Given the description of an element on the screen output the (x, y) to click on. 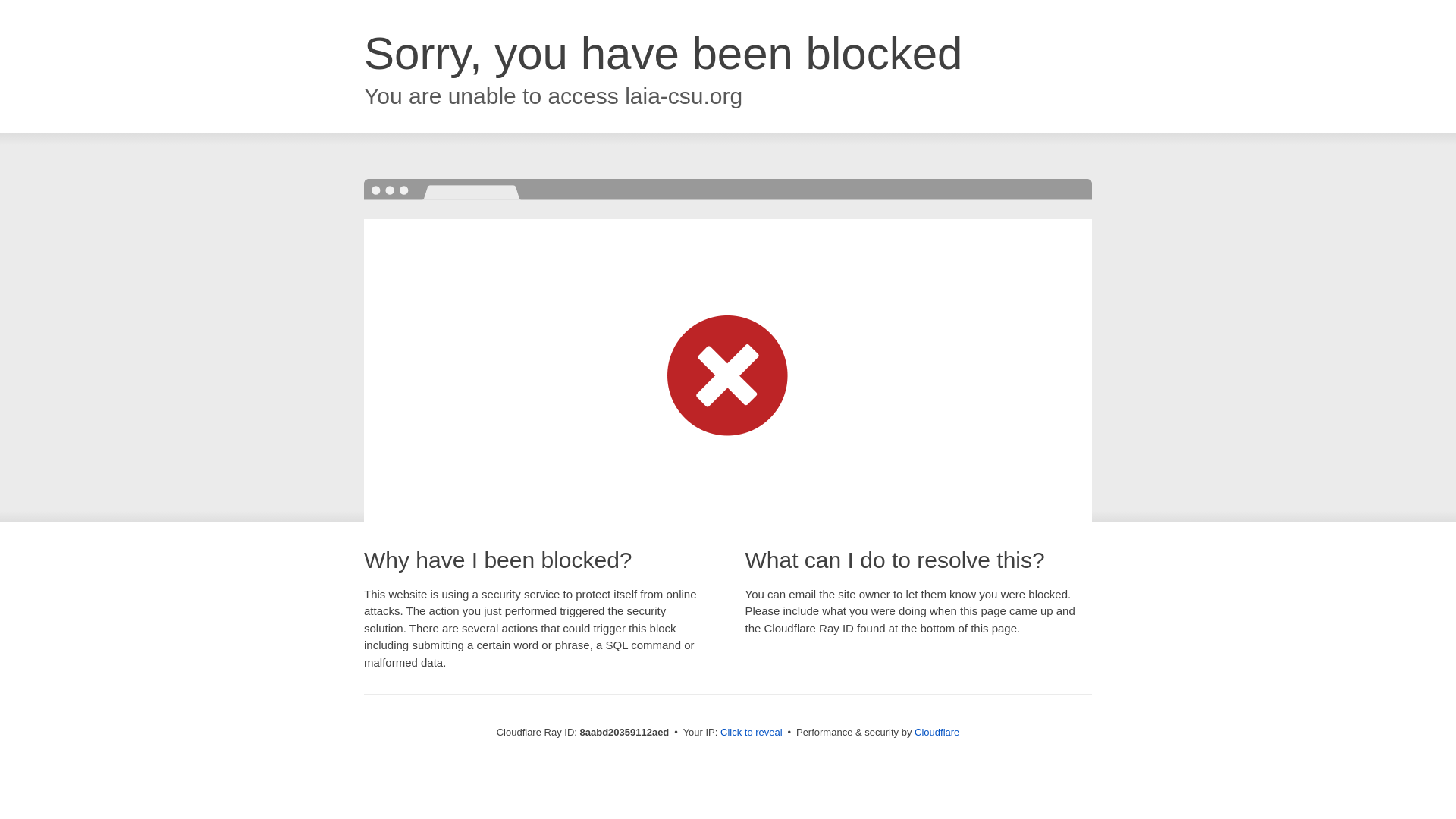
Cloudflare (936, 731)
Click to reveal (751, 732)
